Given the description of an element on the screen output the (x, y) to click on. 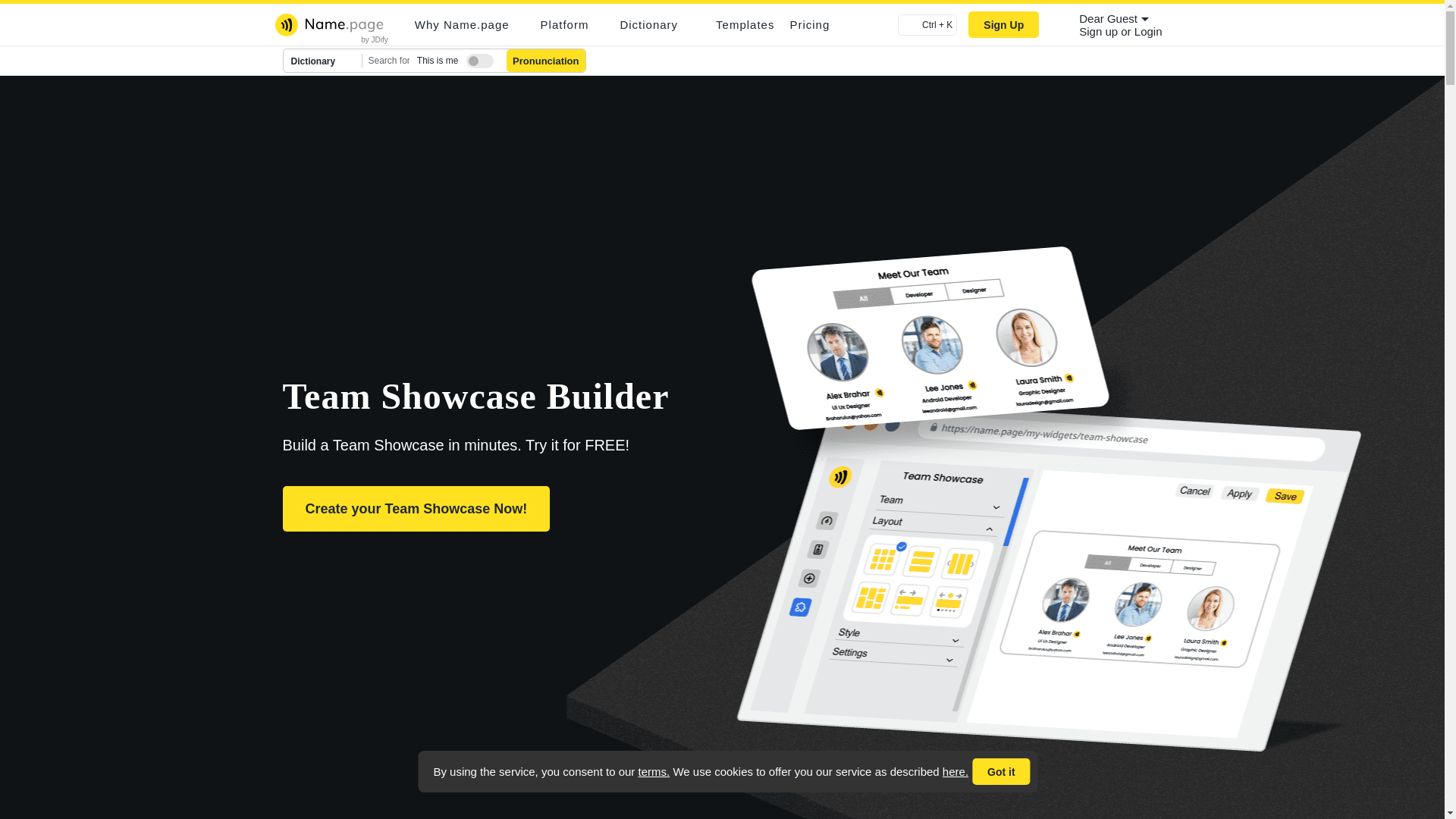
Sign-up it's free and takes just 2 minutes (1099, 31)
Sign Up (1003, 24)
Sign in to your account (1147, 31)
Sign up (1099, 31)
Login (1147, 31)
by JDify (374, 39)
Pronunciation (545, 60)
Search name pronunciation (545, 60)
Templates (745, 24)
Pricing (809, 24)
Is this your name? (476, 58)
Dictionary (322, 60)
